Given the description of an element on the screen output the (x, y) to click on. 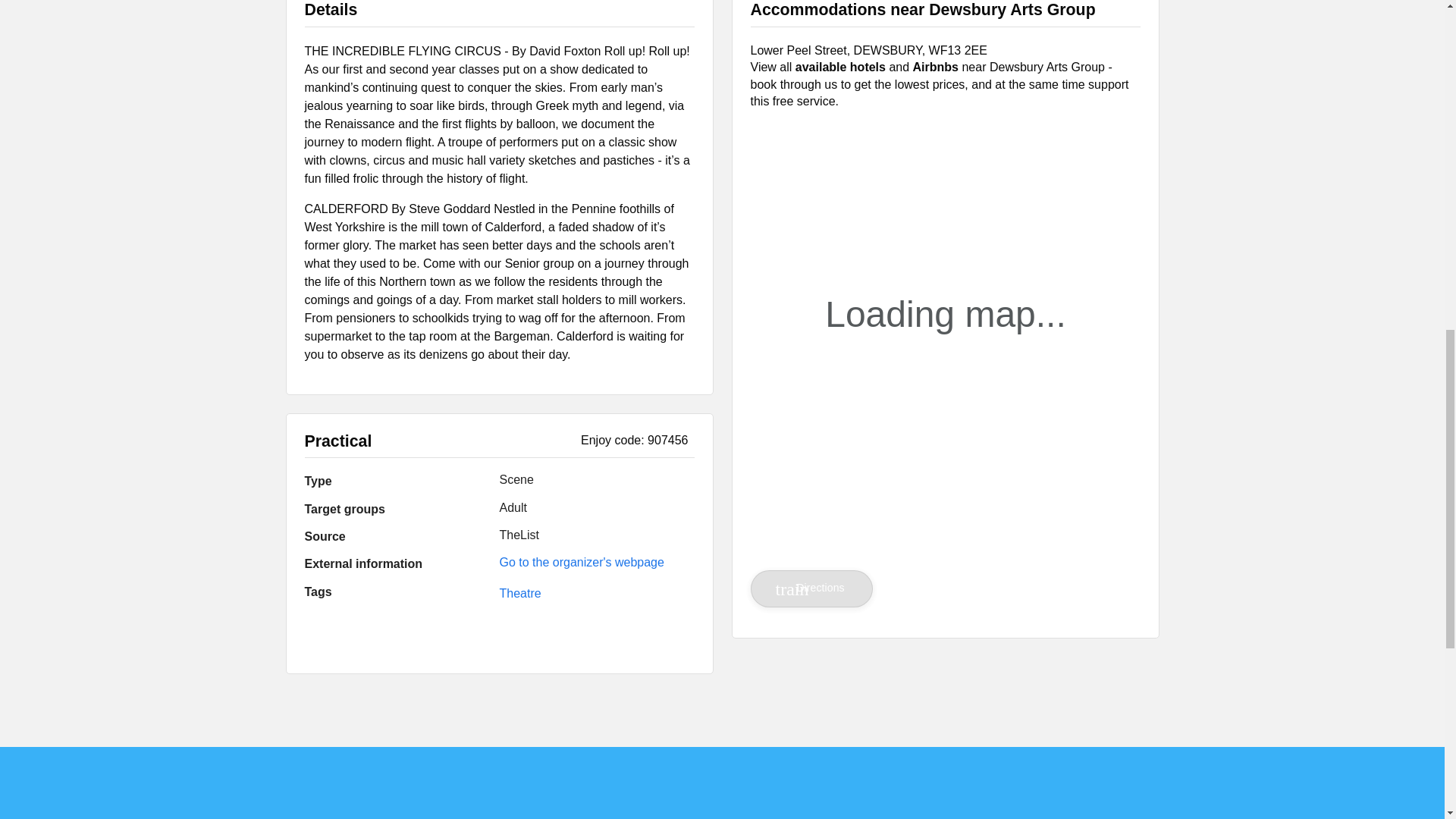
Theatre (519, 593)
train Directions (812, 589)
Activities tagged withTheatre (519, 593)
Go to the organizer's webpage (581, 562)
